Given the description of an element on the screen output the (x, y) to click on. 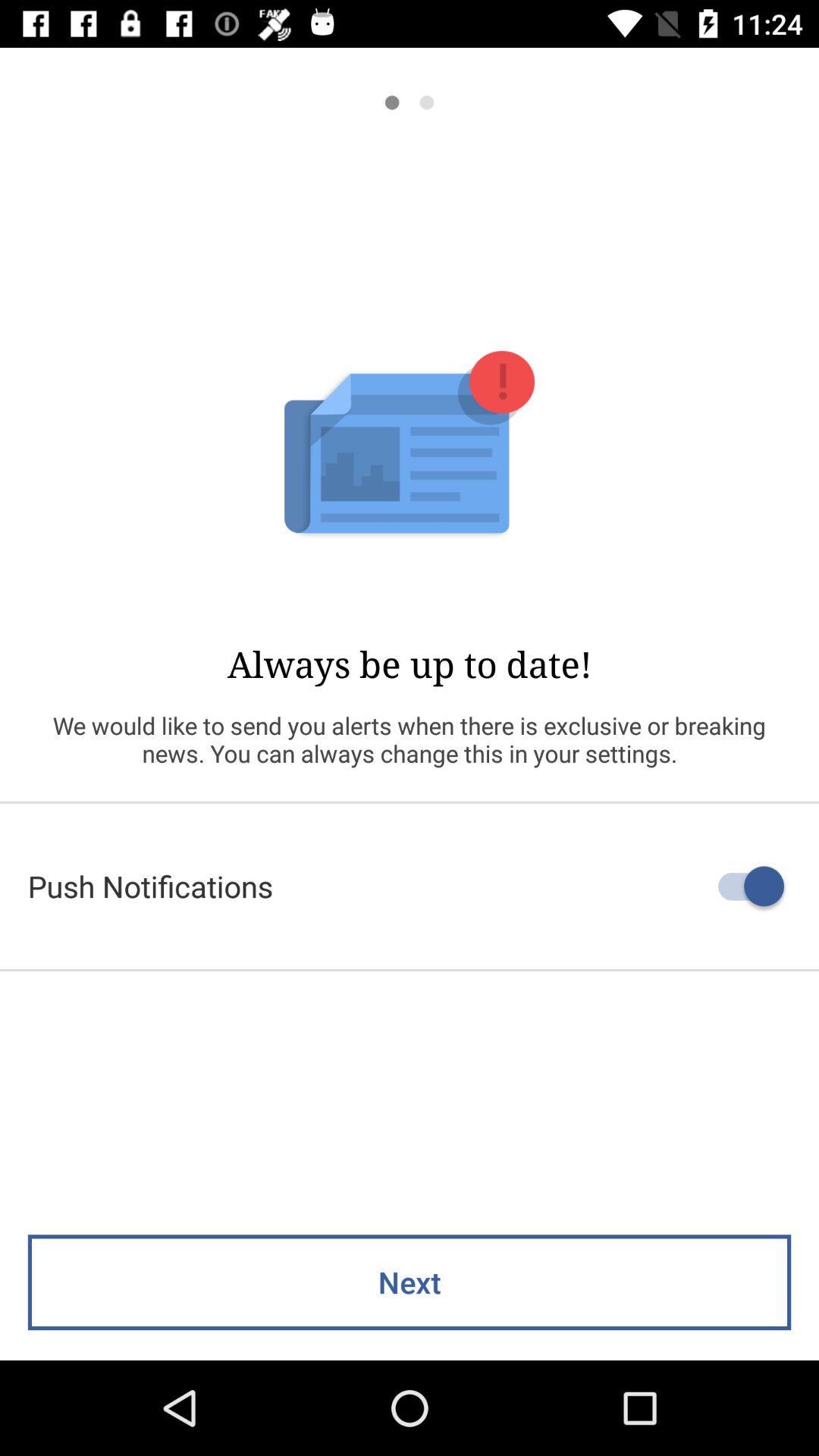
flip to the push notifications (409, 886)
